Given the description of an element on the screen output the (x, y) to click on. 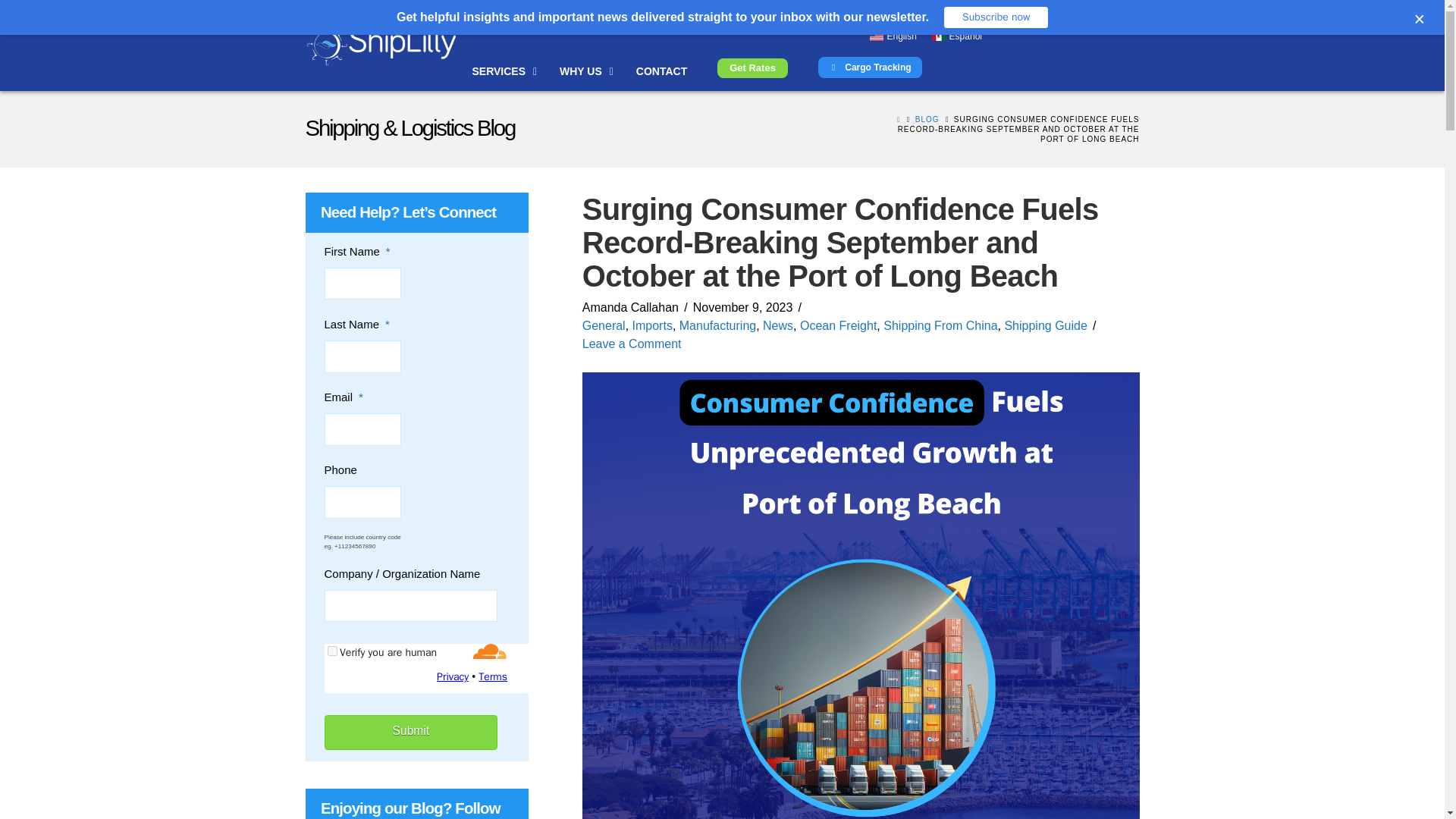
Ocean Freight (837, 325)
Shipping Guide (1045, 325)
News (777, 325)
English (892, 36)
Imports (651, 325)
Manufacturing (717, 325)
General (604, 325)
Get Rates (752, 67)
Submit (410, 732)
CONTACT (661, 70)
Cargo Tracking (869, 66)
Shipping From China (940, 325)
BLOG (927, 119)
Contact Us: 888-464-5459 (1007, 10)
Leave a Comment (631, 343)
